Given the description of an element on the screen output the (x, y) to click on. 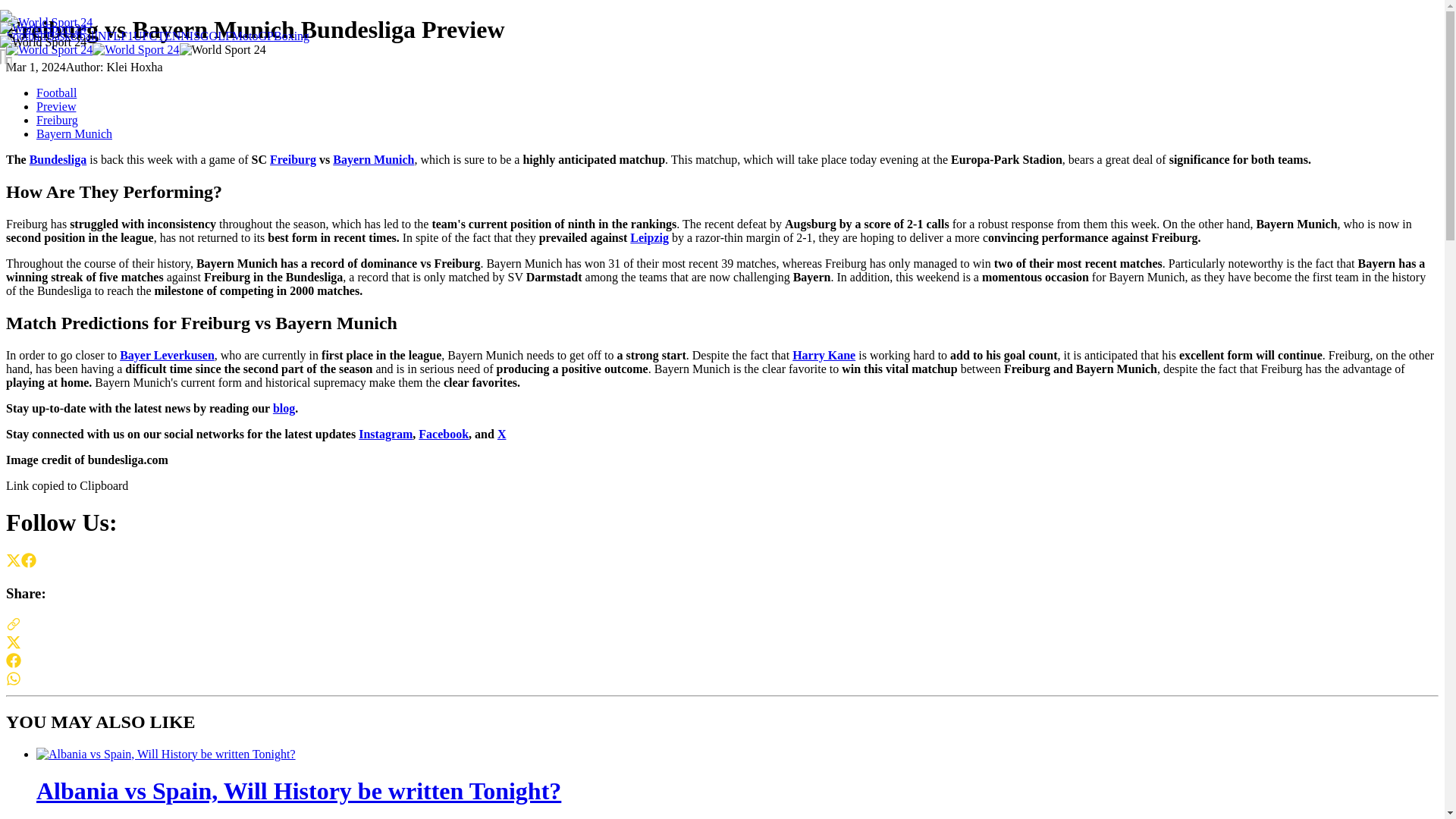
MotoGP (252, 35)
Football (25, 35)
Instagram (385, 433)
Harry Kane (824, 354)
Bayern Munich (74, 133)
blog (284, 408)
Preview (55, 106)
Basketball (71, 35)
Bayer Leverkusen (166, 354)
Facebook (443, 433)
